Given the description of an element on the screen output the (x, y) to click on. 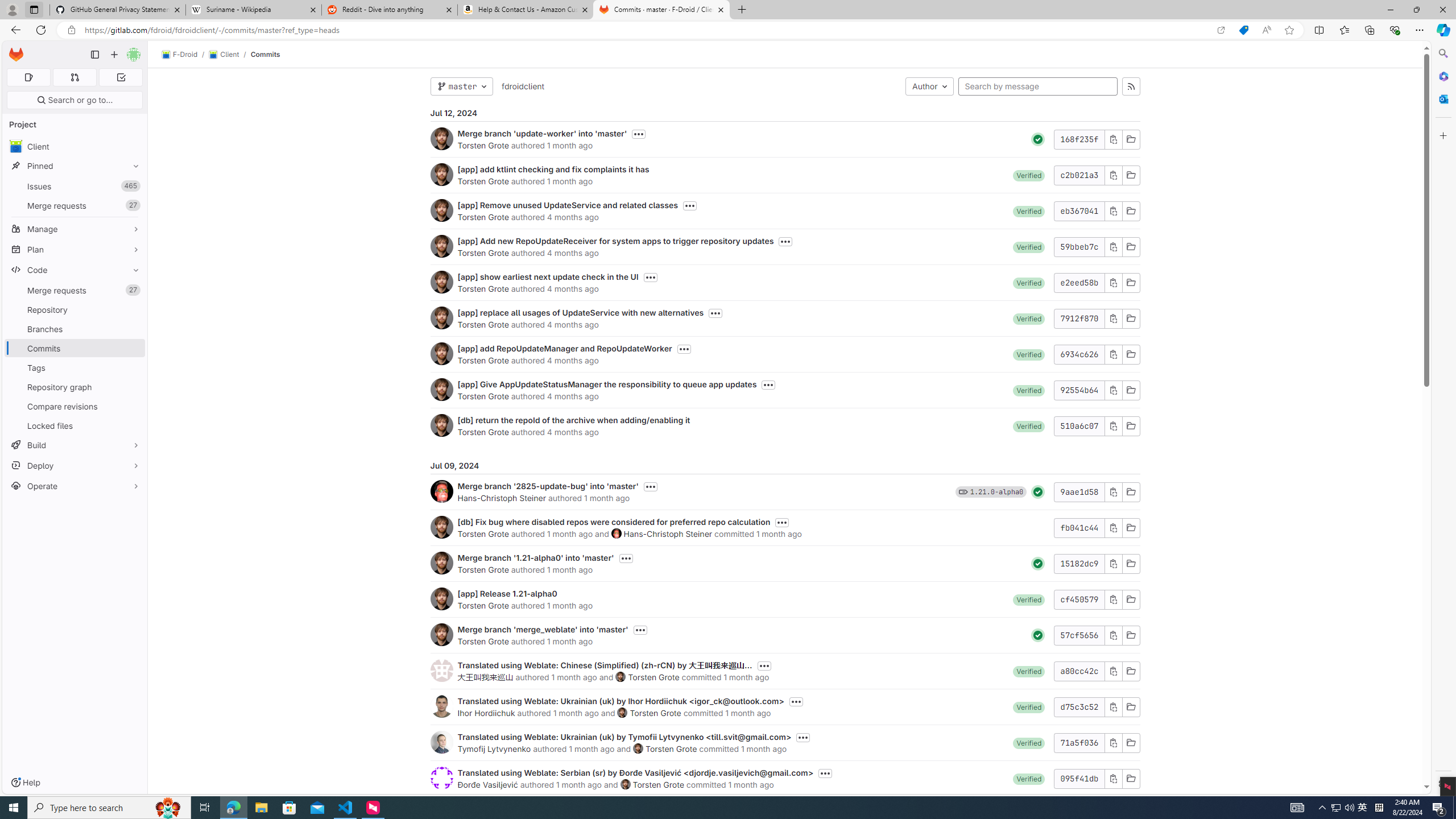
Branches (74, 328)
Class: s16 (1130, 777)
Commits (265, 53)
[app] show earliest next update check in the UI (548, 276)
Manage (74, 228)
Class: s24 gl-icon (1037, 635)
